Given the description of an element on the screen output the (x, y) to click on. 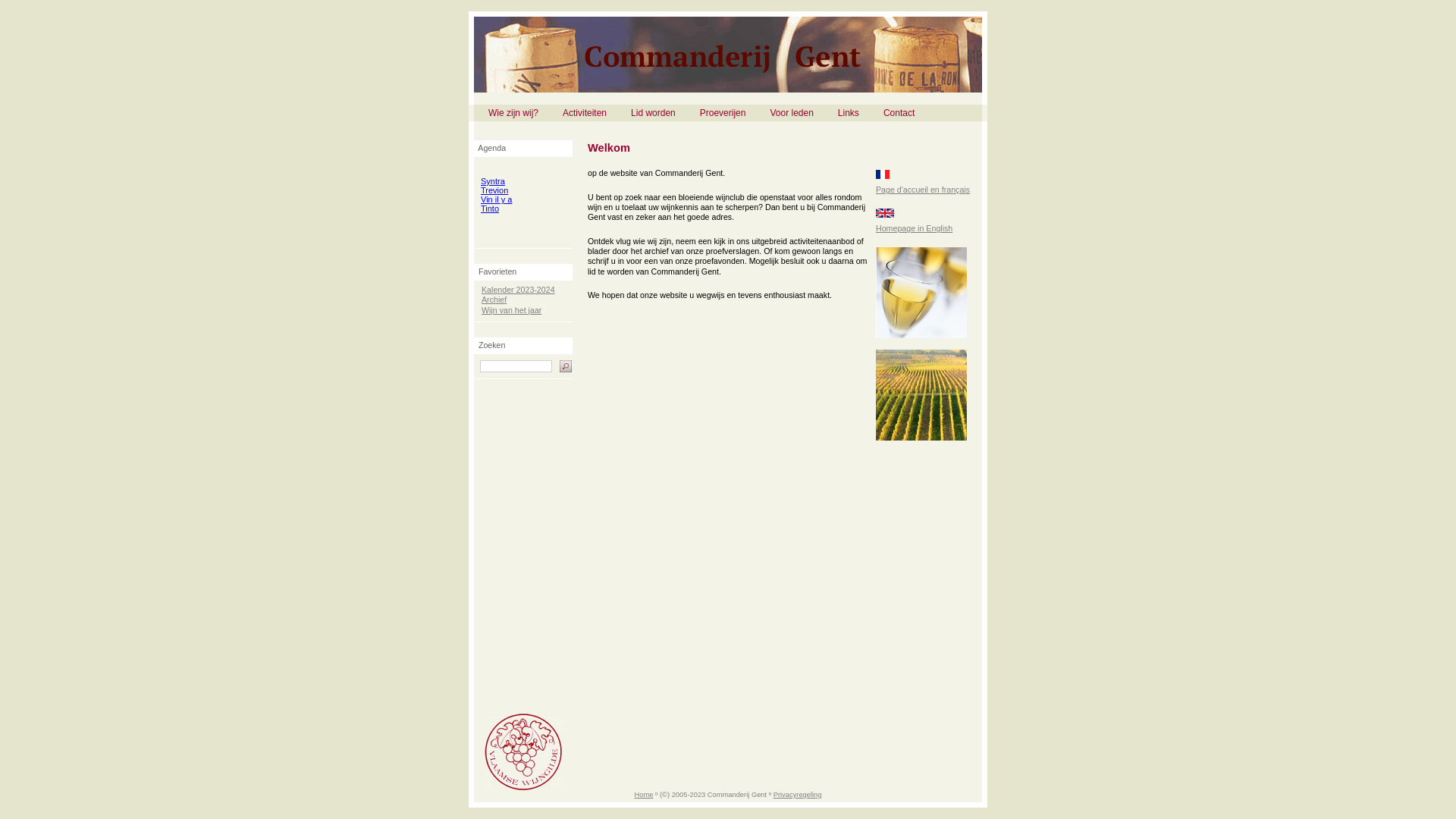
Kalender 2023-2024 Element type: text (518, 289)
Activiteiten Element type: text (584, 112)
Homepage in English Element type: text (913, 227)
Home Element type: text (642, 794)
Privacyregeling Element type: text (797, 794)
Contact Element type: text (898, 112)
Proeverijen Element type: text (722, 112)
Lid worden Element type: text (653, 112)
Links Element type: text (848, 112)
Wie zijn wij? Element type: text (512, 112)
Wijn van het jaar Element type: text (511, 309)
Voor leden Element type: text (791, 112)
Archief Element type: text (493, 299)
